Given the description of an element on the screen output the (x, y) to click on. 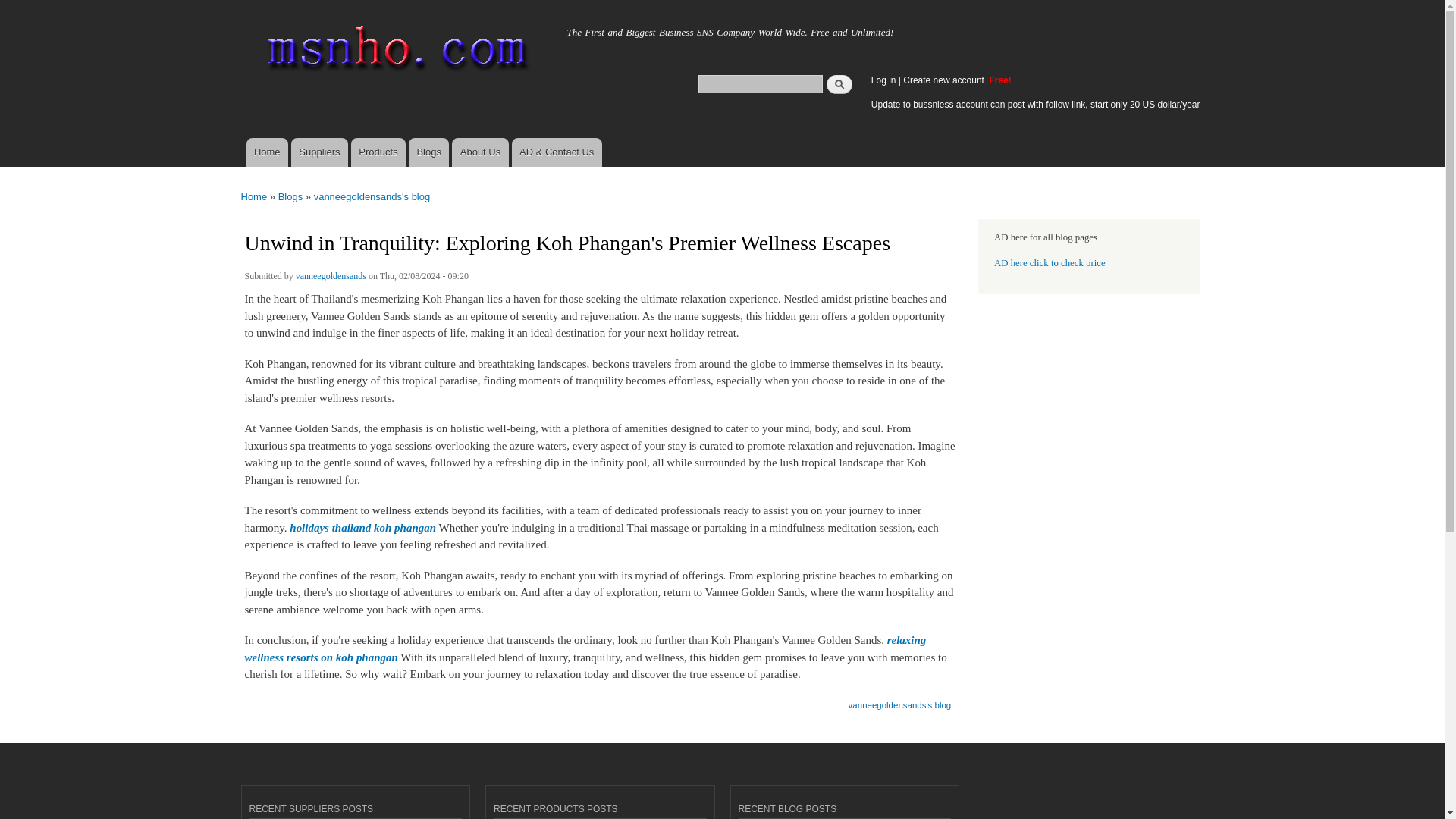
Contact us (557, 152)
Products,if need post product, contact to our AD department (378, 152)
Suppliers (319, 152)
relaxing wellness resorts on koh phangan (585, 648)
Log in (883, 79)
Create new account (944, 79)
AD here click to check price (1049, 262)
View user profile. (330, 277)
Search (839, 83)
Read vanneegoldensands's latest blog entries. (900, 700)
vanneegoldensands (330, 277)
Enter the terms you wish to search for. (760, 83)
About Us (479, 152)
About us (479, 152)
